Given the description of an element on the screen output the (x, y) to click on. 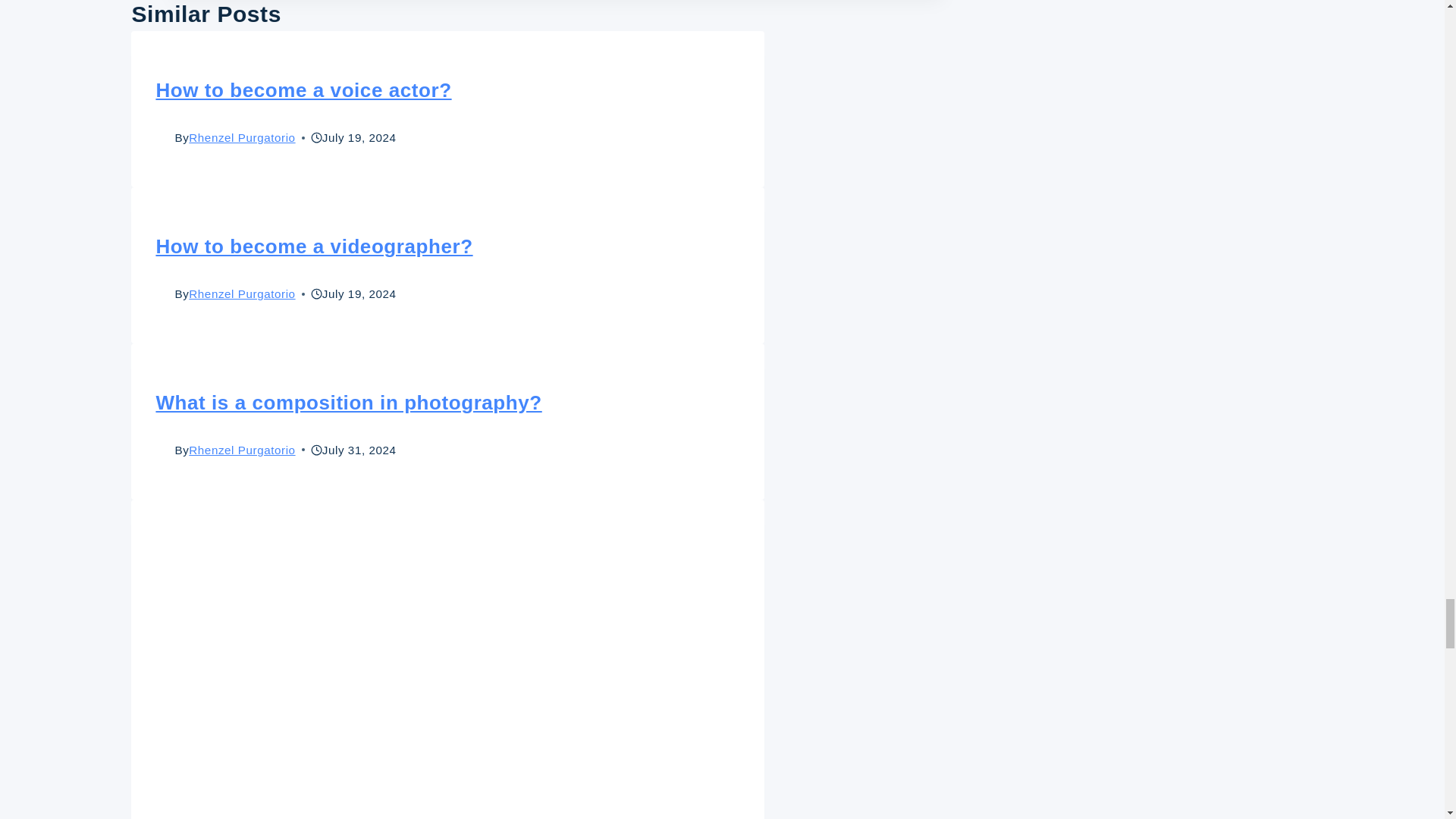
Rhenzel Purgatorio (242, 137)
Rhenzel Purgatorio (242, 293)
What is a composition in photography? (348, 402)
How to become a videographer? (313, 246)
How to become a voice actor? (303, 89)
